Given the description of an element on the screen output the (x, y) to click on. 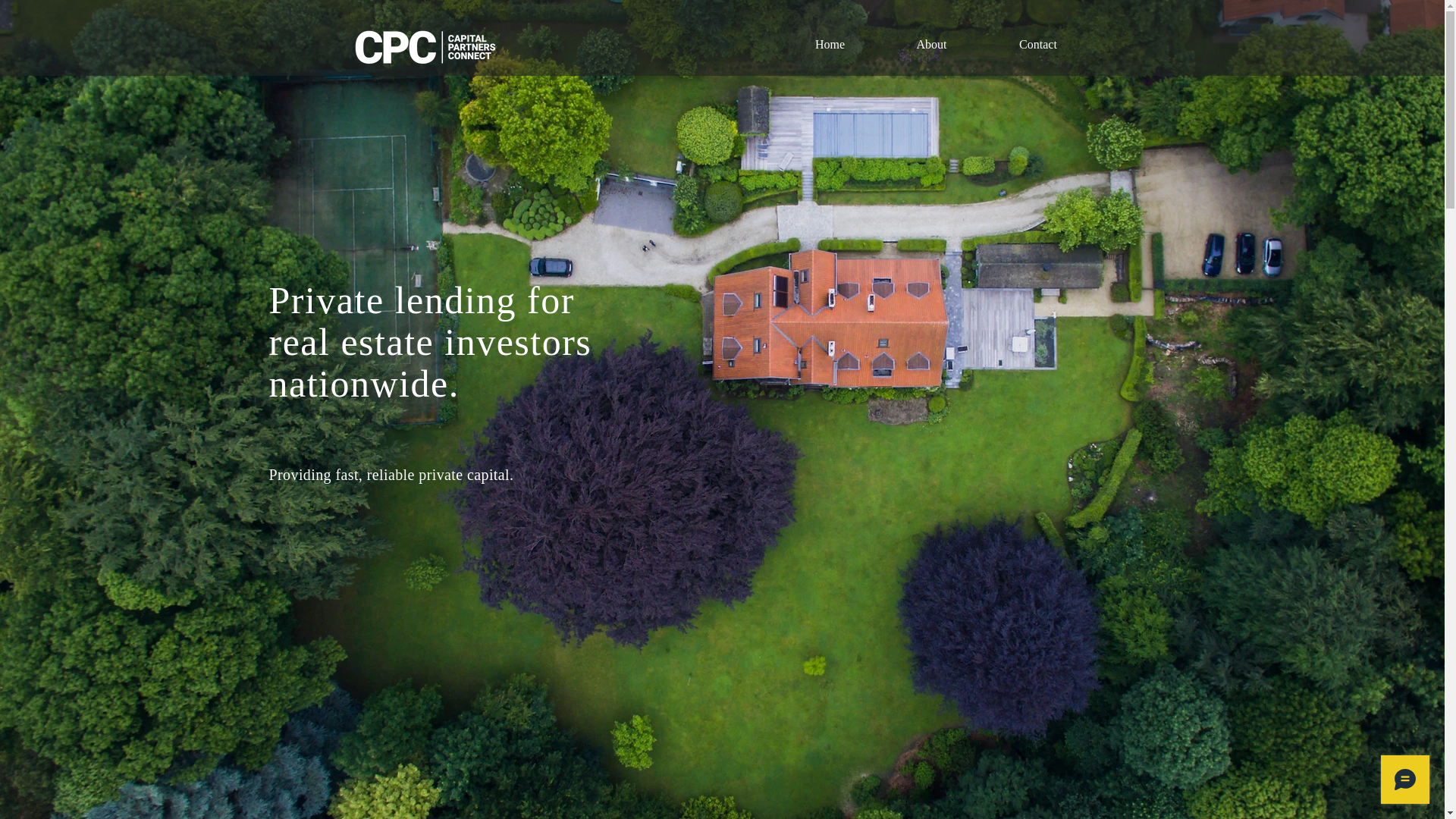
About (931, 44)
Contact (1038, 44)
Home (829, 44)
